Given the description of an element on the screen output the (x, y) to click on. 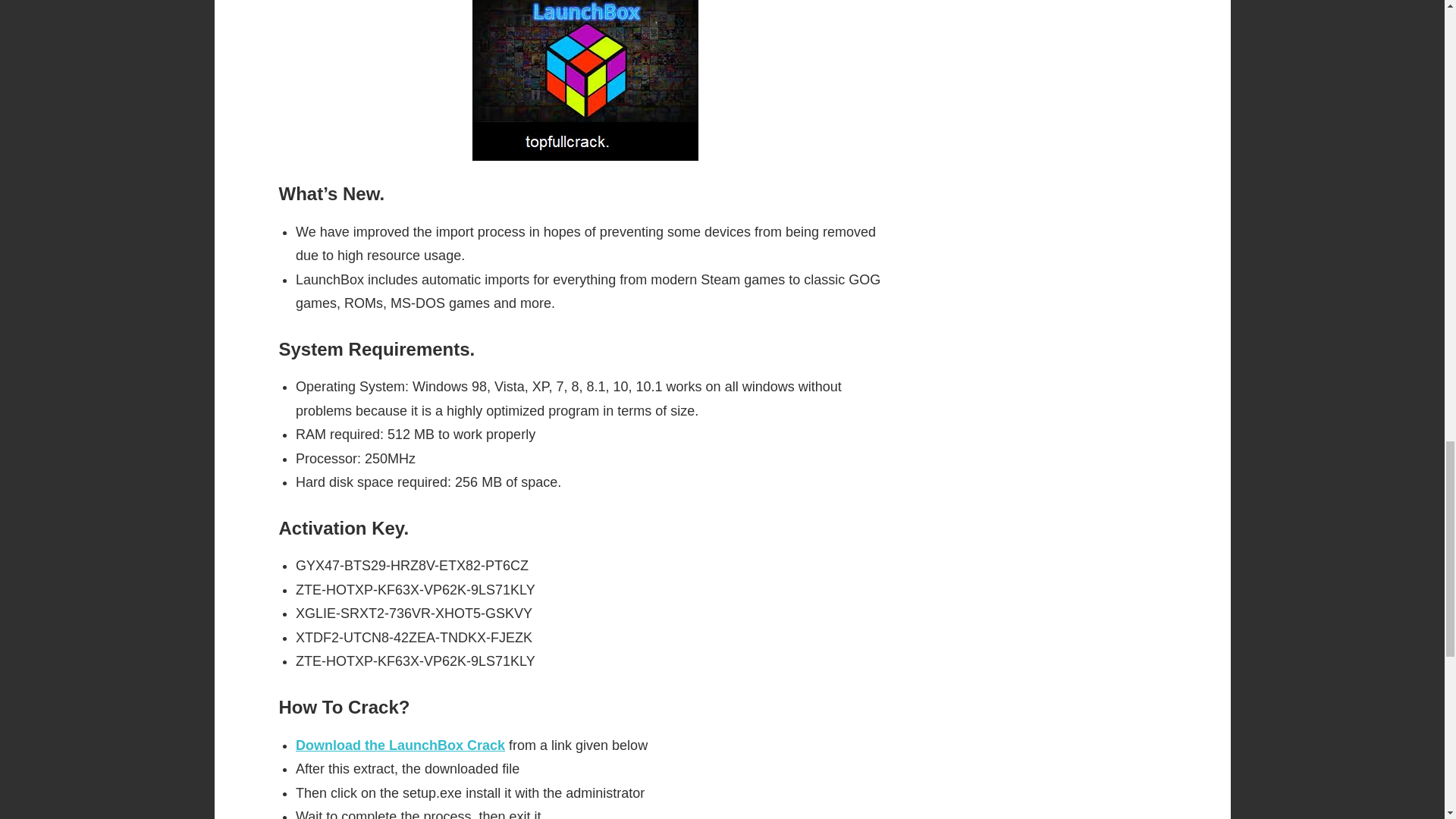
Download the LaunchBox Crack (400, 744)
